Given the description of an element on the screen output the (x, y) to click on. 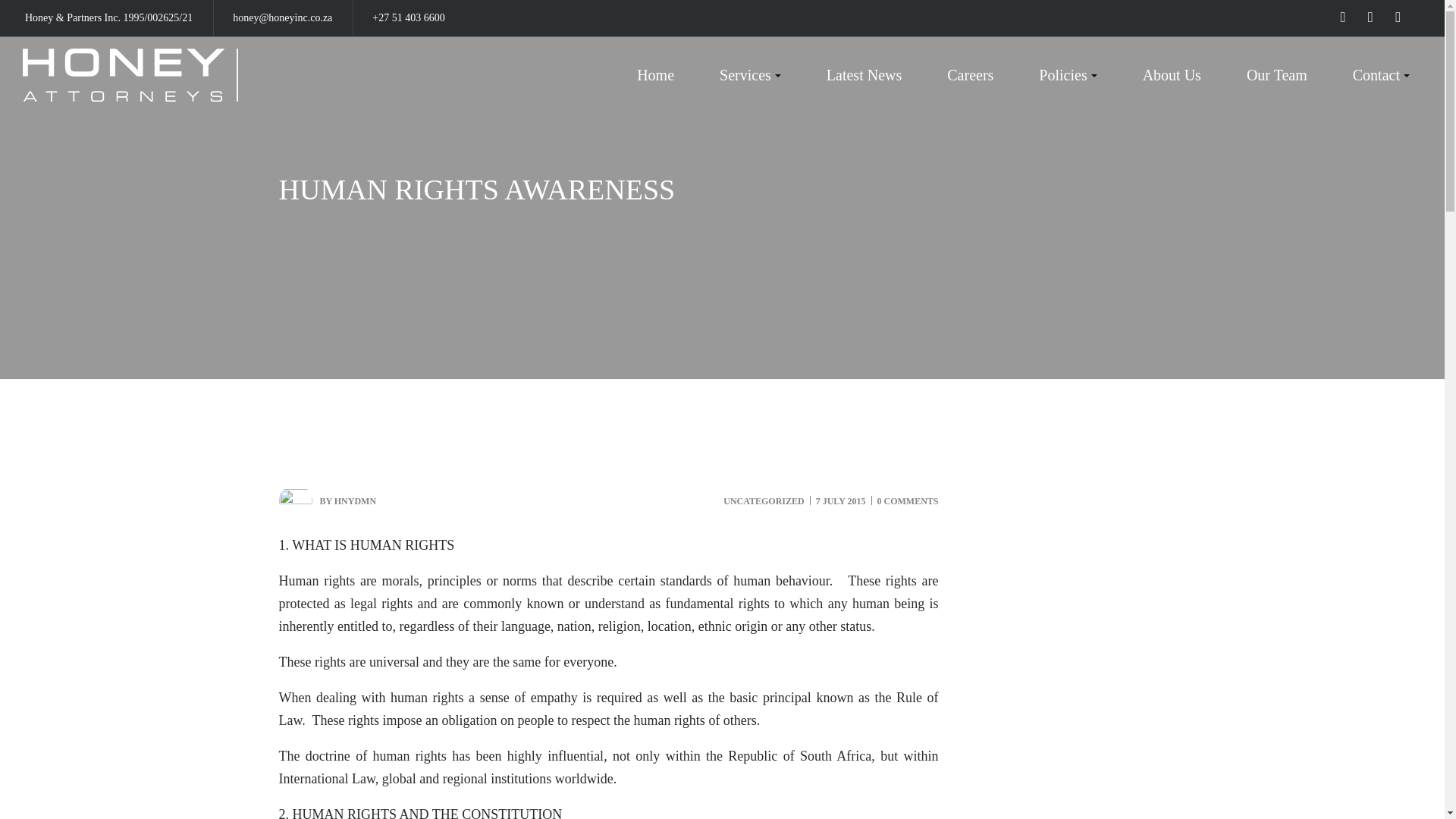
Latest News (863, 74)
Home (655, 74)
Careers (970, 74)
Policies (1067, 74)
Our Team (1277, 74)
About Us (1171, 74)
Contact (1381, 74)
Services (750, 74)
